Given the description of an element on the screen output the (x, y) to click on. 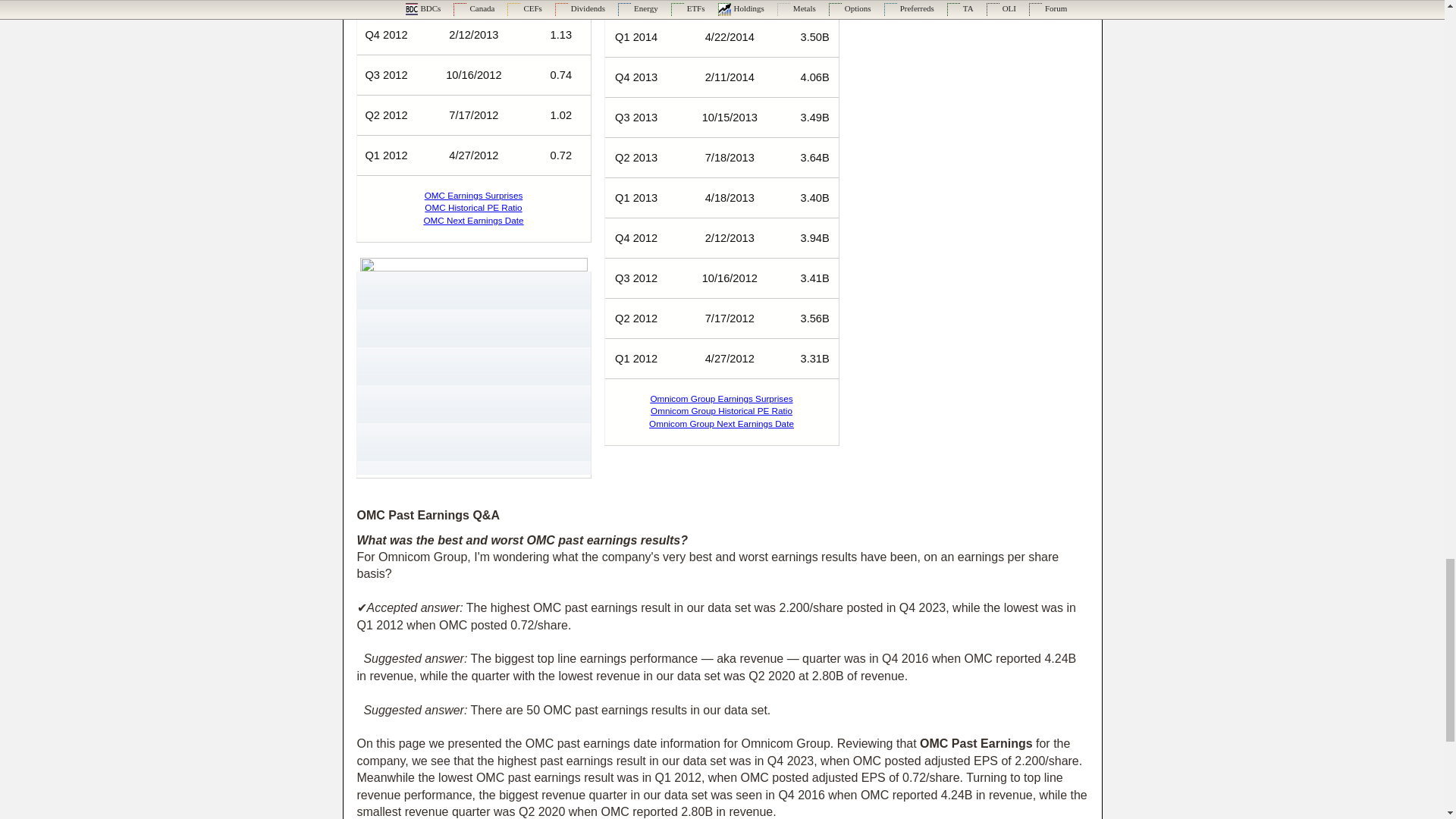
Omnicom Group Historical PE Ratio (721, 410)
OMC Historical PE Ratio (473, 207)
Omnicom Group Next Earnings Date (721, 423)
Omnicom Group Earnings Surprises (720, 398)
OMC Earnings Surprises (473, 194)
OMC Next Earnings Date (472, 220)
